Given the description of an element on the screen output the (x, y) to click on. 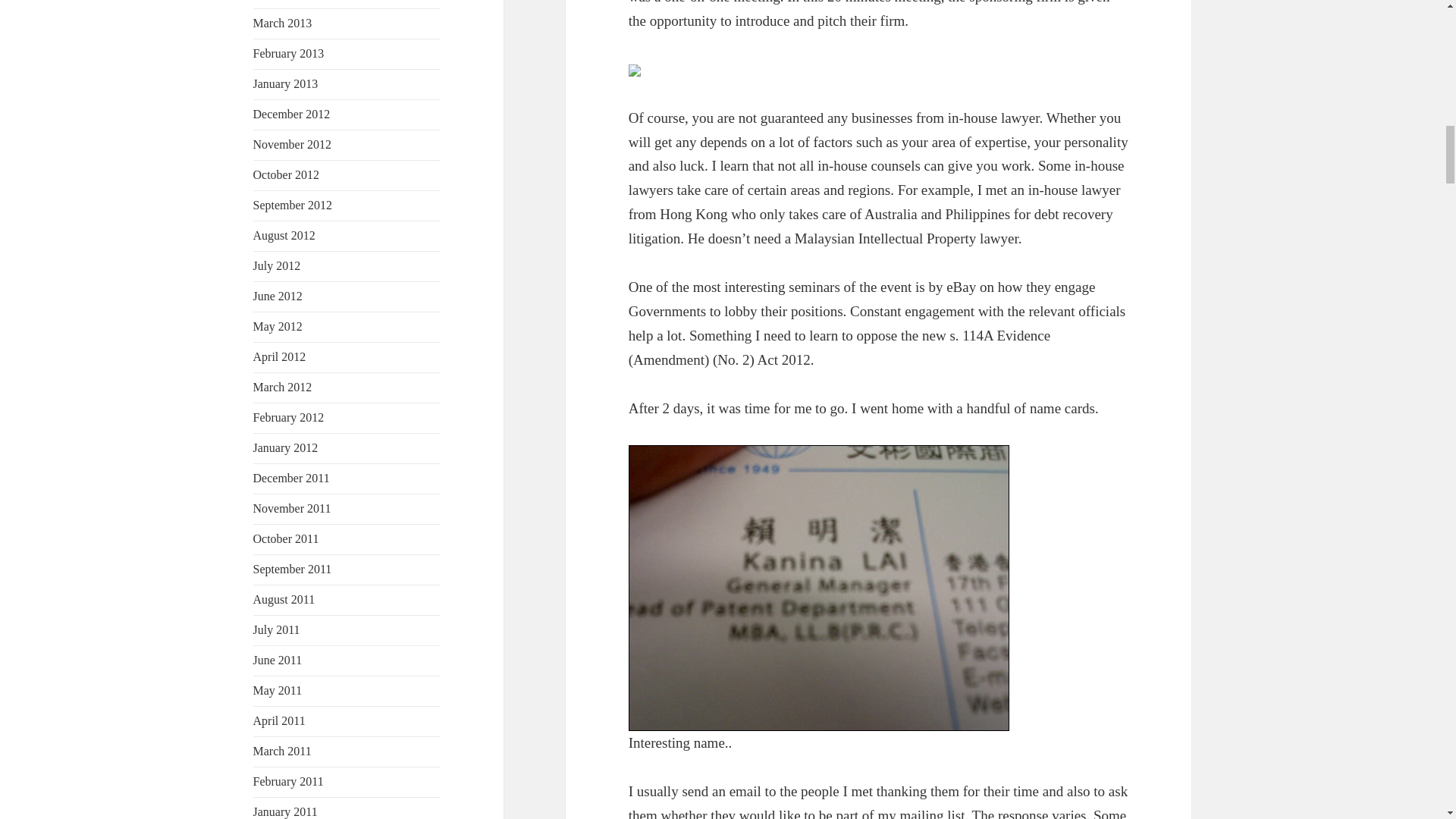
February 2013 (288, 52)
March 2013 (283, 22)
